Given the description of an element on the screen output the (x, y) to click on. 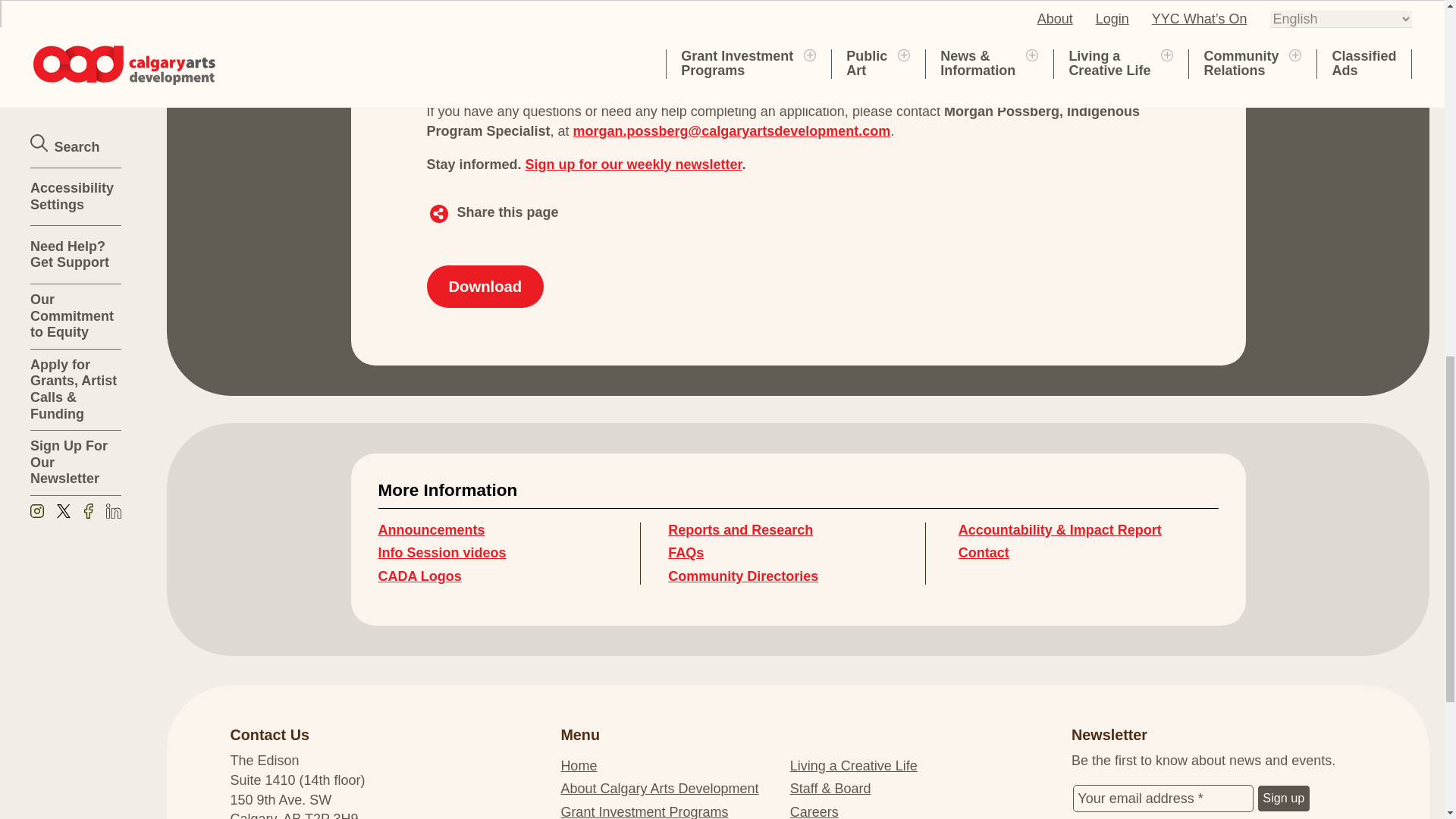
Download (484, 286)
